Given the description of an element on the screen output the (x, y) to click on. 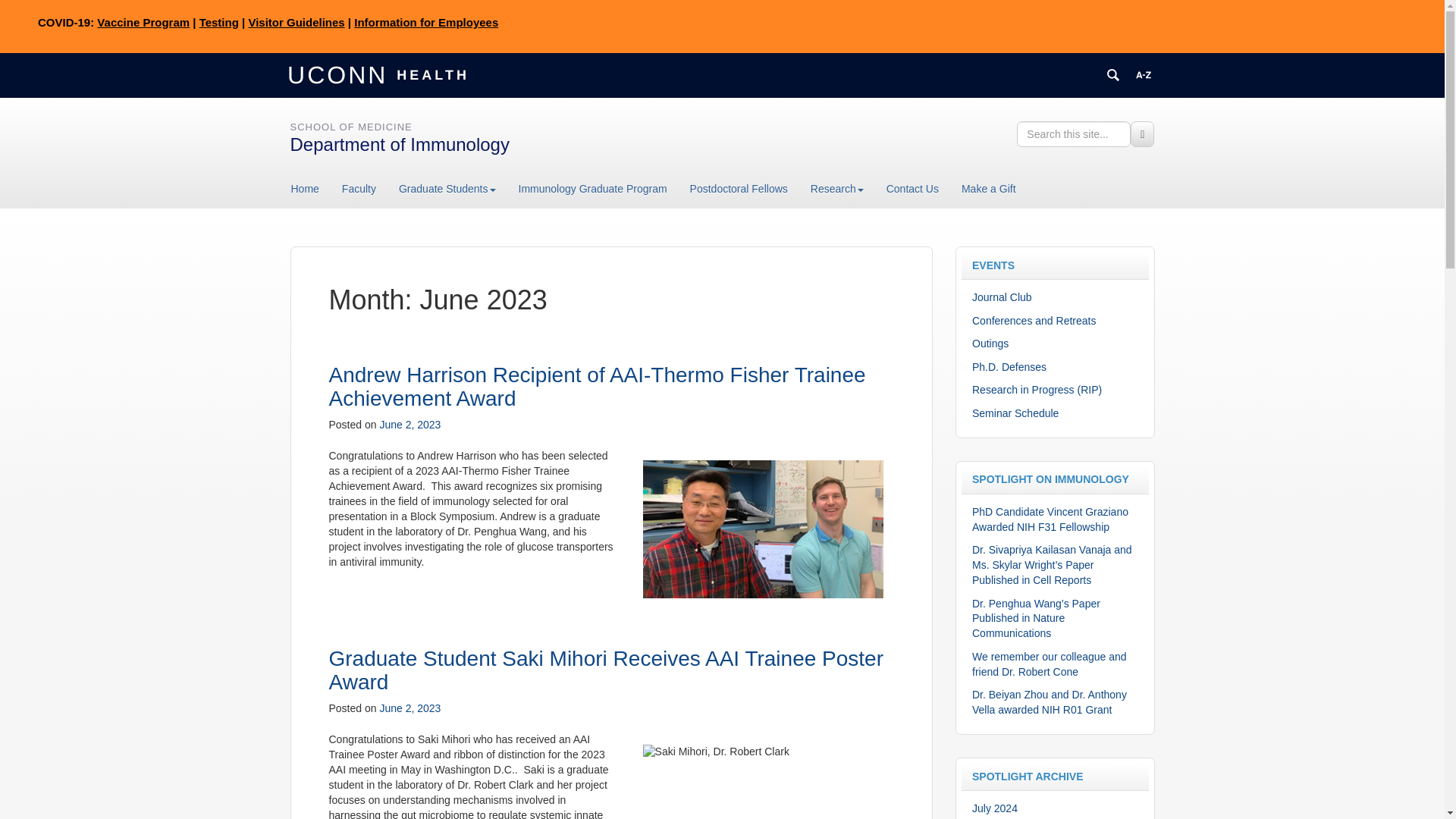
HEALTH (431, 73)
Search (1142, 134)
Search this site...  (1073, 134)
Faculty (358, 188)
UCONN (340, 73)
June 2, 2023 (409, 707)
Search UConn Health (1112, 74)
June 2, 2023 (409, 424)
Immunology Graduate Program (592, 188)
Graduate Students (446, 188)
Search (1142, 134)
Department of Immunology (398, 144)
Vaccine Program (143, 21)
Home (310, 188)
